Given the description of an element on the screen output the (x, y) to click on. 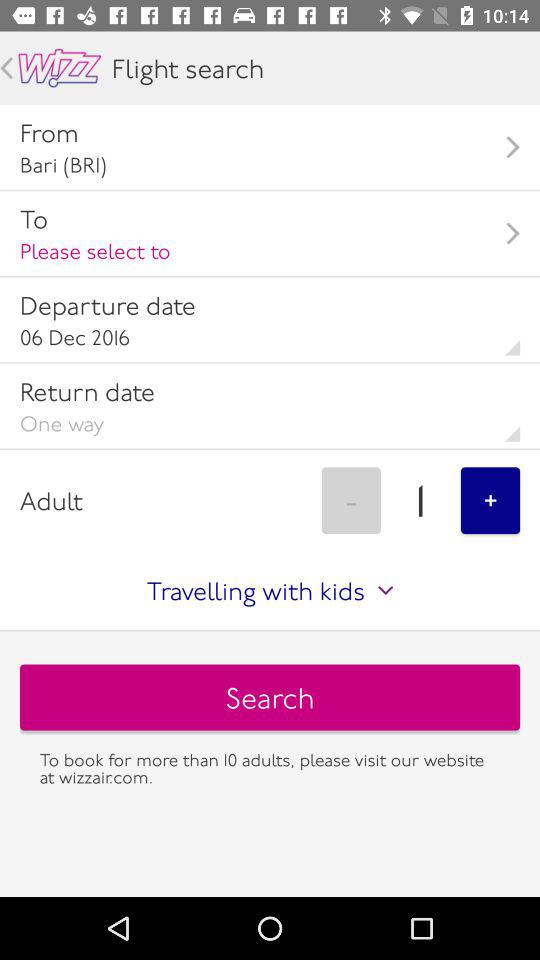
open + item (490, 500)
